Given the description of an element on the screen output the (x, y) to click on. 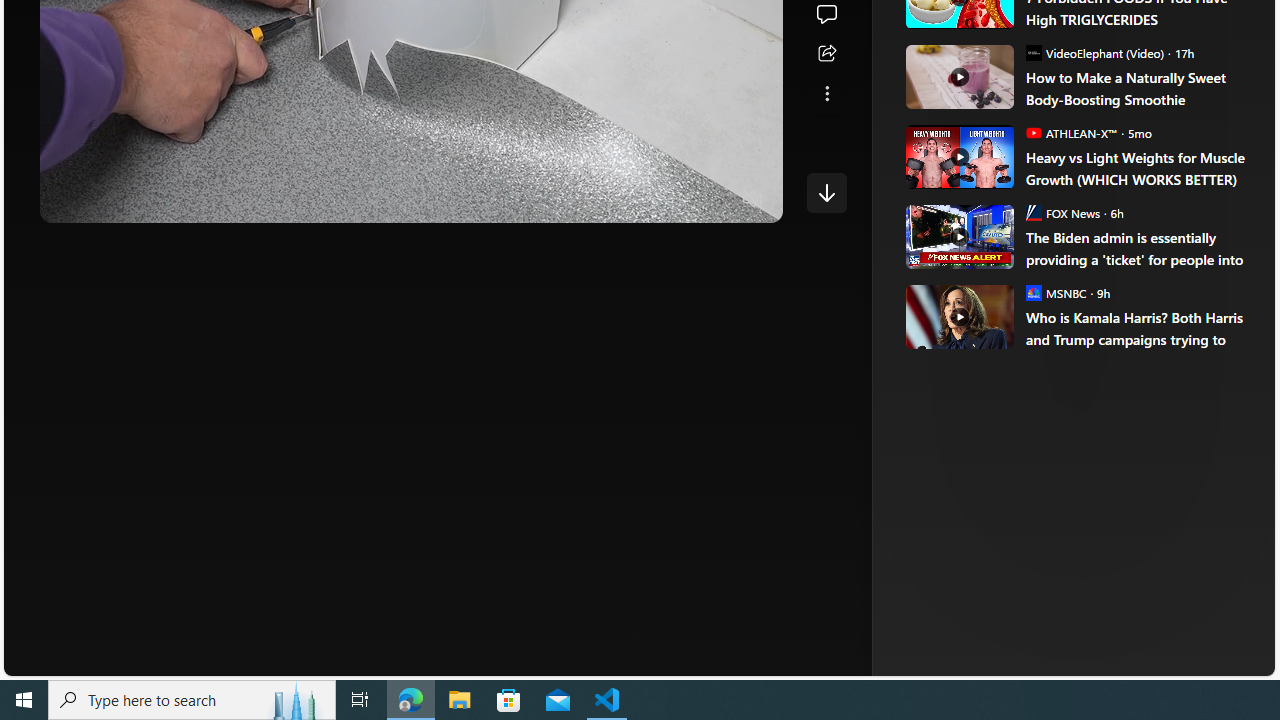
FOX News (1033, 212)
Unmute (753, 200)
Quality Settings (634, 200)
MSNBC MSNBC (1055, 291)
Seek Back (109, 200)
VideoElephant (Video) VideoElephant (Video) (1094, 52)
Share this story (826, 53)
Summer Sale! Up to -55% (1084, 186)
